Given the description of an element on the screen output the (x, y) to click on. 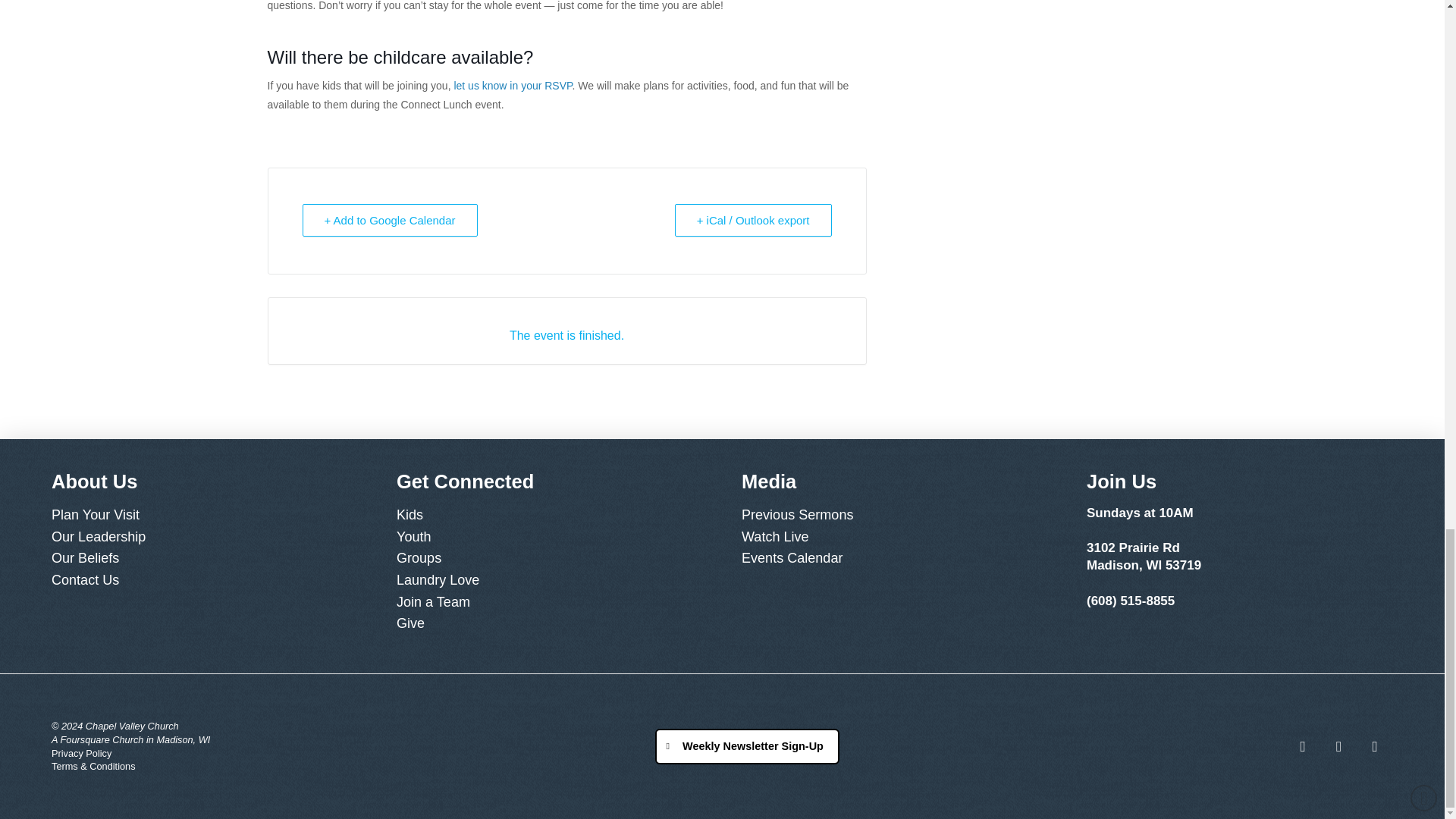
Join a Team (549, 601)
Privacy Policy (92, 753)
Groups (549, 558)
Previous Sermons (894, 515)
Our Beliefs (204, 558)
let us know in your RSVP (512, 85)
Give (549, 623)
Youth (549, 536)
Watch Live (894, 536)
Events Calendar (894, 558)
Kids (549, 515)
Contact Us (204, 580)
Laundry Love (549, 580)
Our Leadership (204, 536)
Plan Your Visit (204, 515)
